Given the description of an element on the screen output the (x, y) to click on. 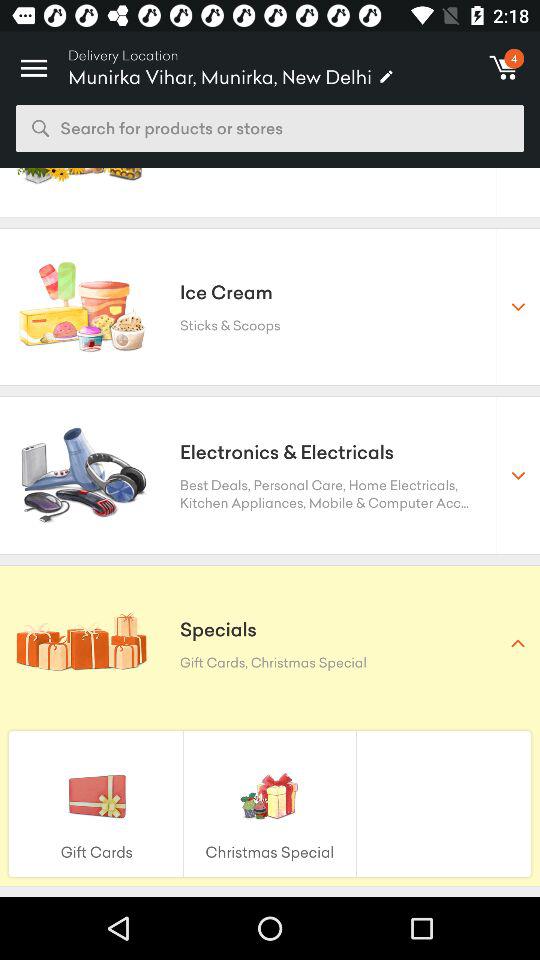
select the item to the left of the delivery location icon (33, 62)
